Given the description of an element on the screen output the (x, y) to click on. 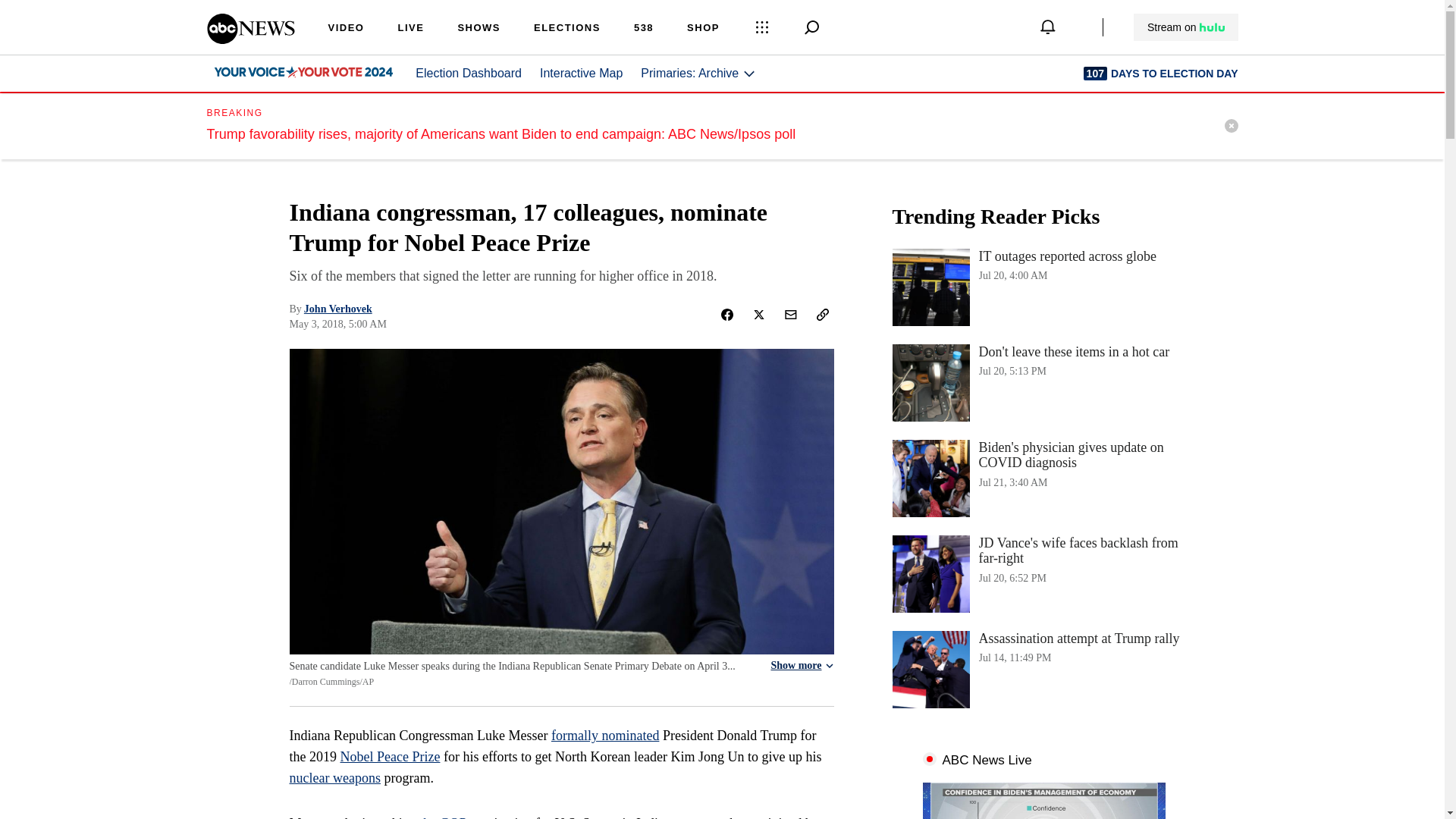
Primaries: Archive (698, 73)
the GOP (442, 817)
nuclear weapons (334, 777)
Election Dashboard (467, 73)
John Verhovek (338, 308)
Show more (801, 665)
LIVE (410, 28)
SHOP (703, 28)
538 (643, 28)
SHOWS (478, 28)
Stream on (1185, 27)
formally nominated (605, 735)
Stream on (1186, 26)
Nobel Peace Prize (389, 756)
ELECTIONS (566, 28)
